Given the description of an element on the screen output the (x, y) to click on. 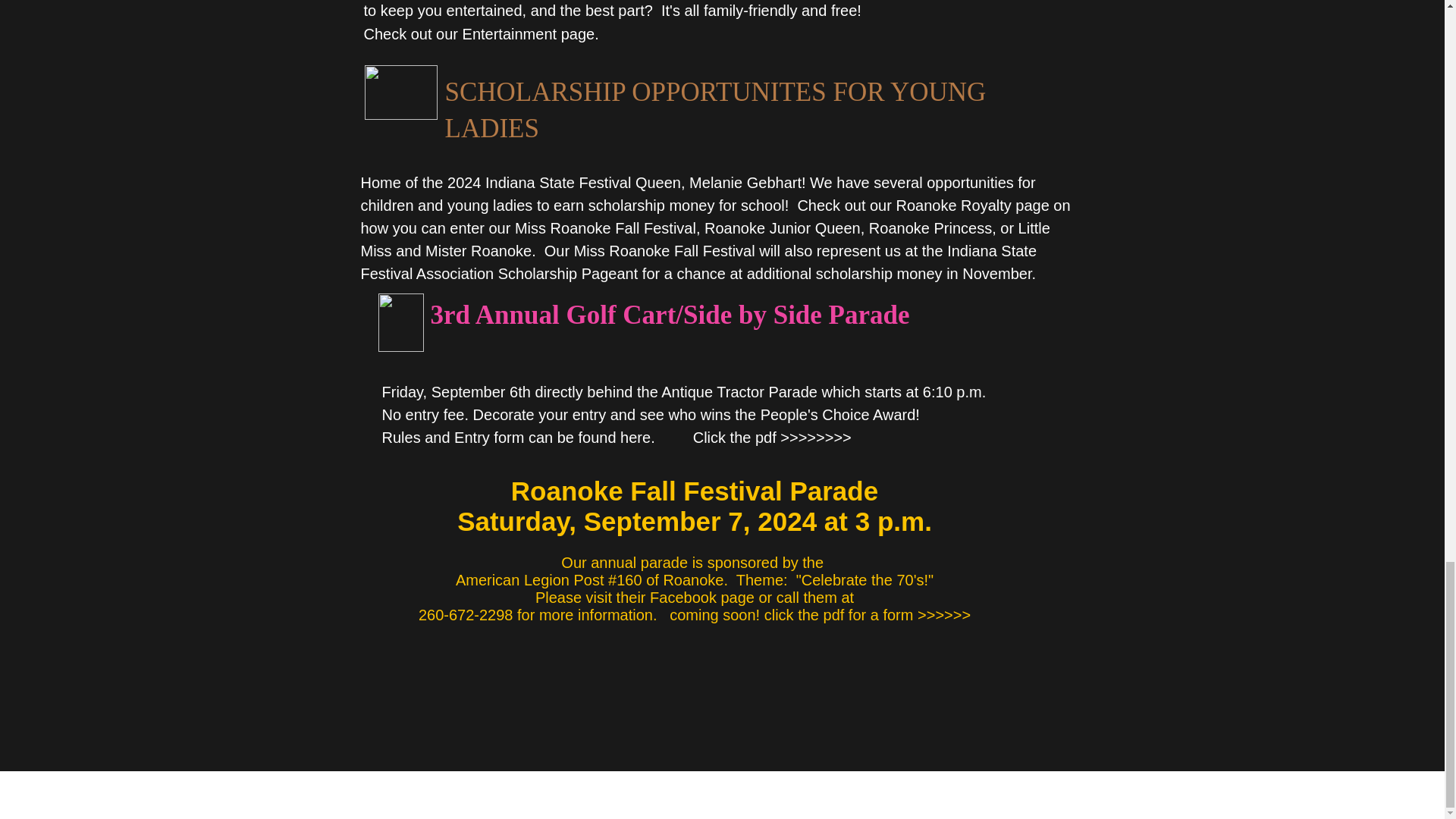
Trophy (400, 322)
Tiara  (400, 92)
Golf Cart Parade Entry.pdf (1034, 418)
